Given the description of an element on the screen output the (x, y) to click on. 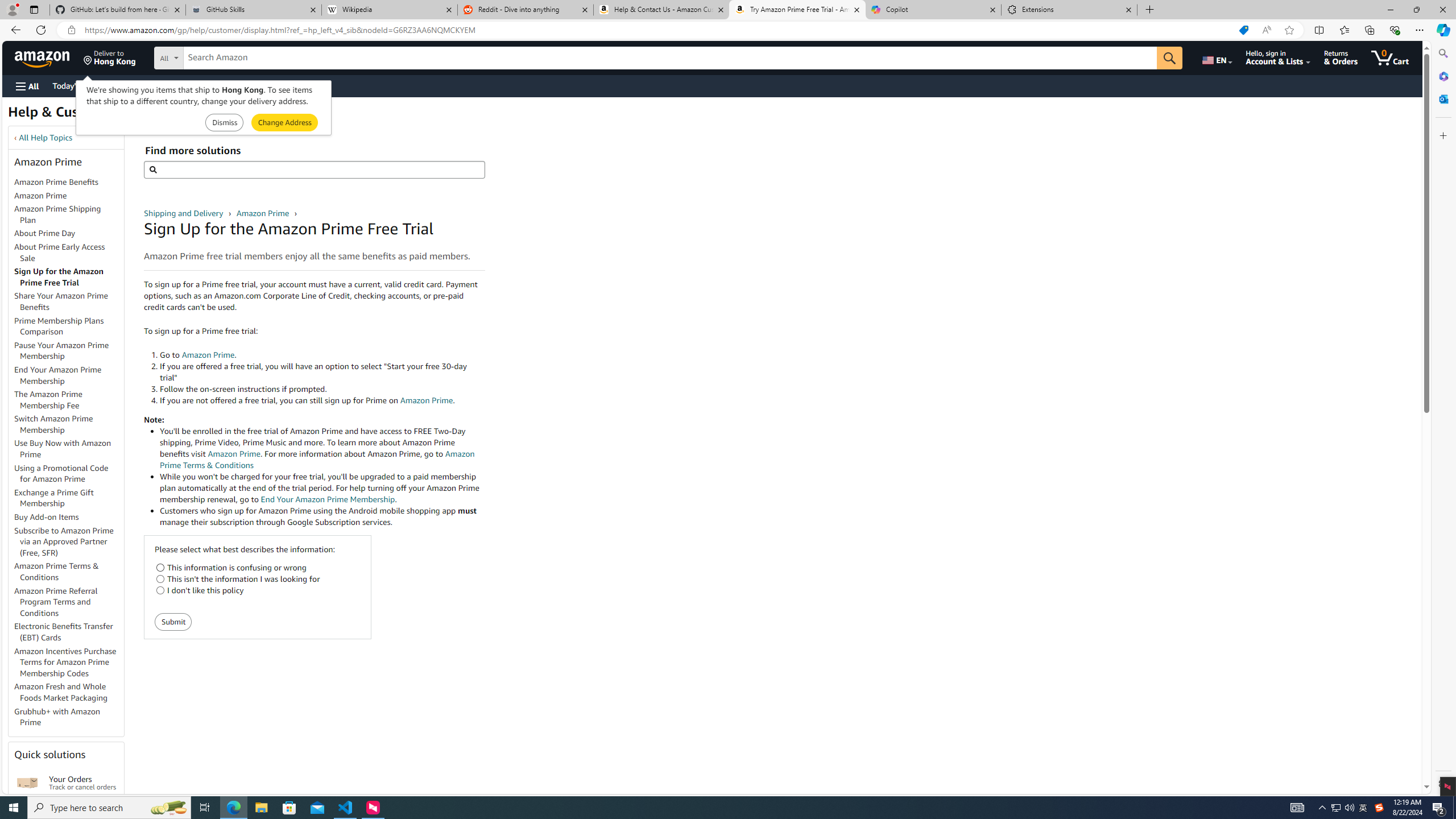
About Prime Early Access Sale (68, 252)
Switch Amazon Prime Membership (68, 424)
Amazon Prime Shipping Plan (68, 214)
End Your Amazon Prime Membership (57, 374)
Prime Membership Plans Comparison (68, 326)
Copilot (933, 9)
About Prime Day (44, 233)
Search Amazon (670, 57)
Amazon Prime (68, 196)
Go (1169, 57)
Using a Promotional Code for Amazon Prime (68, 473)
Open Menu (26, 86)
0 items in cart (1389, 57)
